Given the description of an element on the screen output the (x, y) to click on. 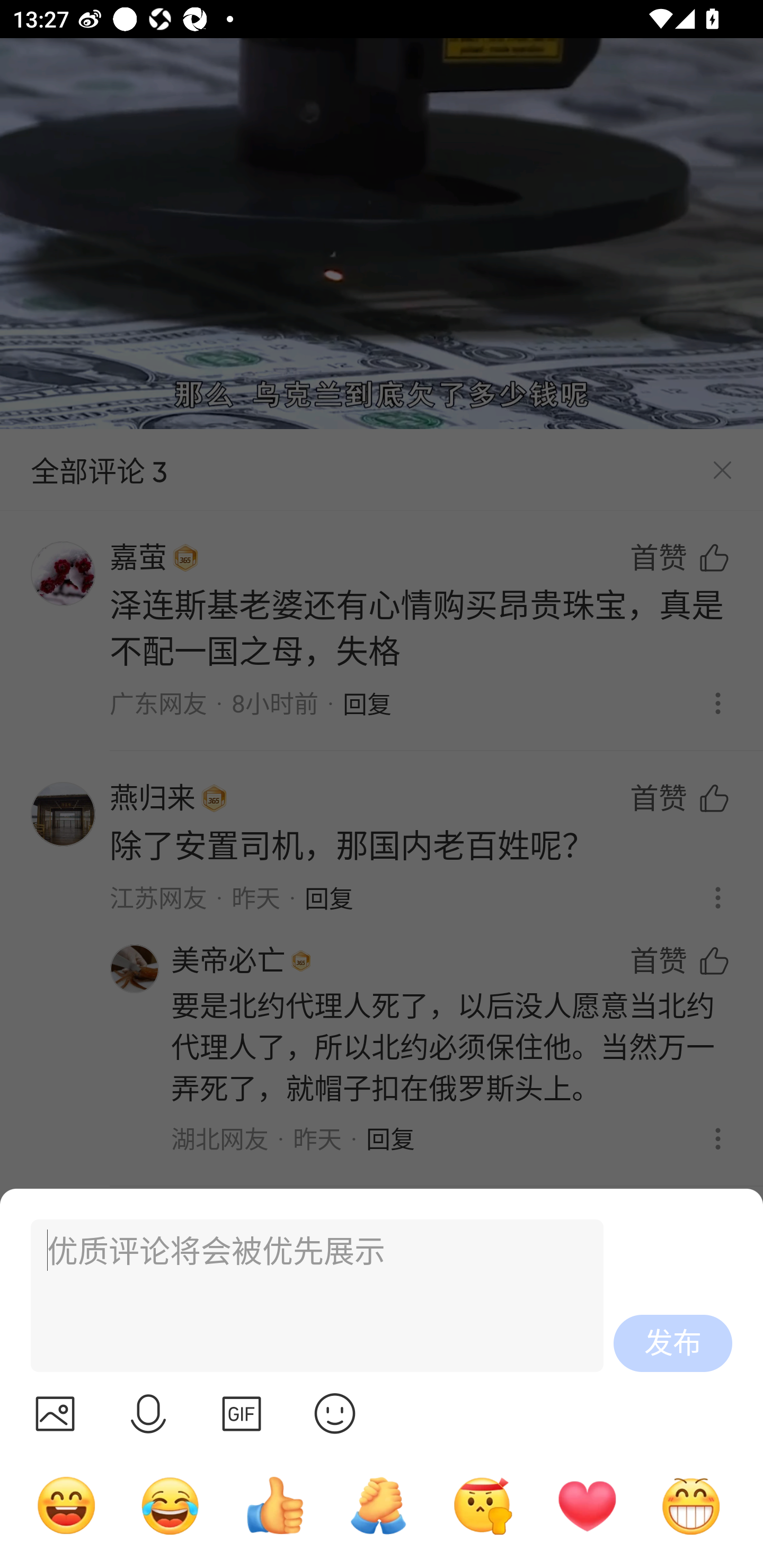
优质评论将会被优先展示 (308, 1295)
发布 (672, 1343)
 (54, 1413)
 (148, 1413)
 (241, 1413)
 (334, 1413)
哈哈 (66, 1505)
哭笑 (170, 1505)
点赞 (274, 1505)
加油 (378, 1505)
奋斗 (482, 1505)
心 (586, 1505)
呲牙 (690, 1505)
